Given the description of an element on the screen output the (x, y) to click on. 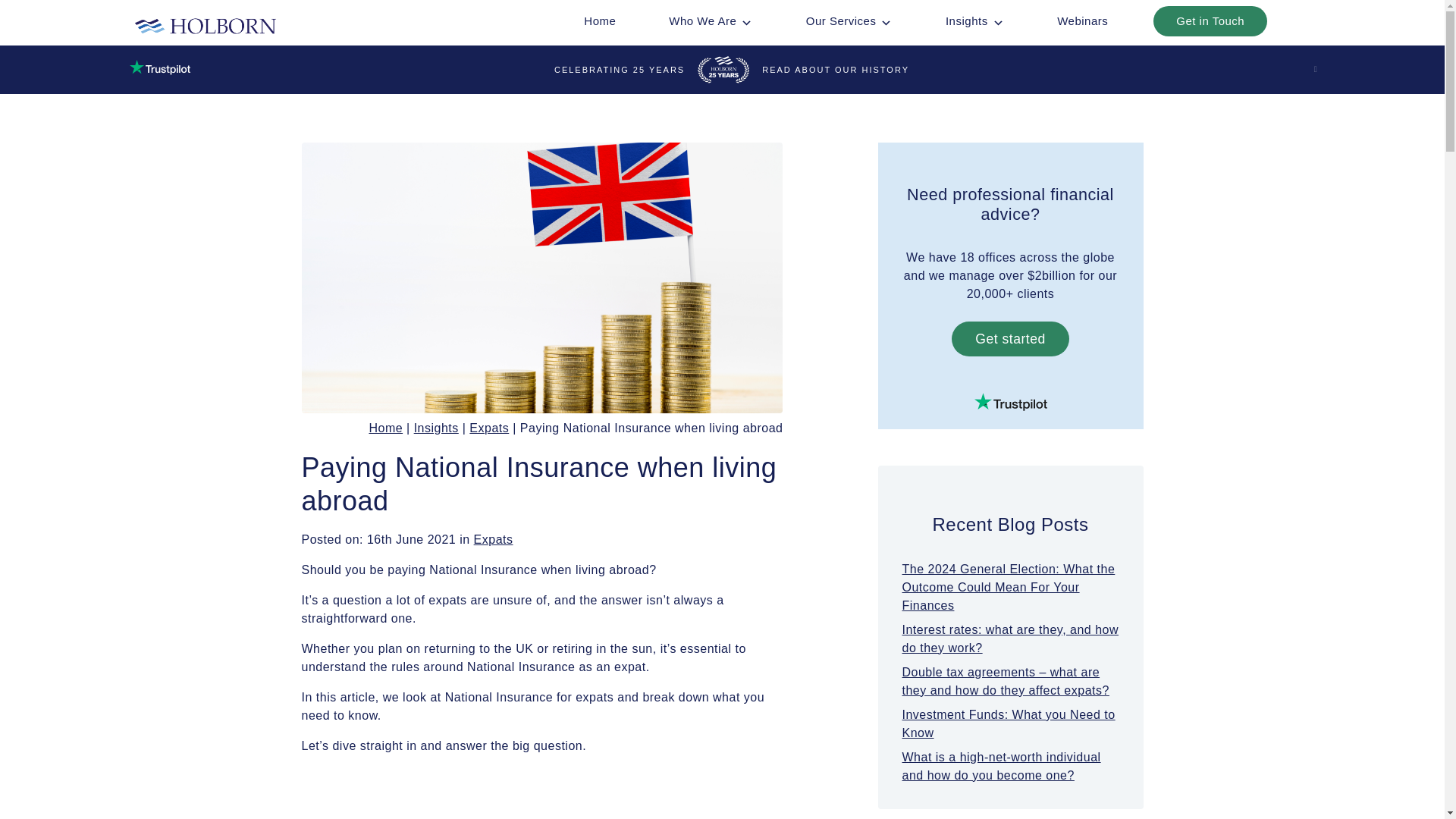
Customer reviews powered by Trustpilot (1010, 402)
Home (599, 20)
View all (493, 539)
Insights (974, 20)
Our Services (848, 20)
Who We Are (710, 20)
